Given the description of an element on the screen output the (x, y) to click on. 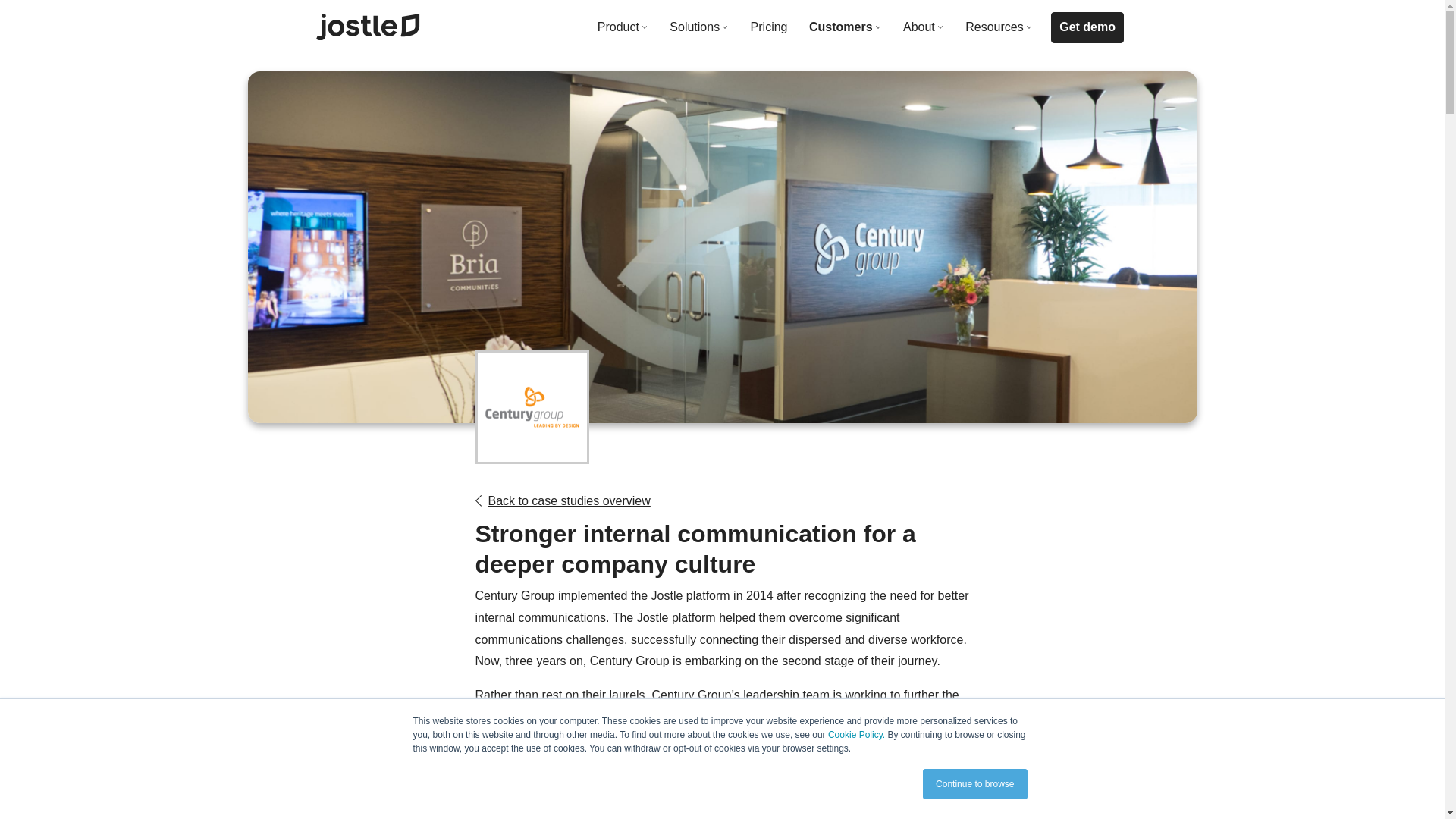
Solutions (699, 27)
Resources (998, 27)
Customers (845, 27)
About (923, 27)
Cookie Policy. (856, 734)
Get demo (1087, 27)
Continue to browse (974, 784)
Pricing (769, 27)
Product (622, 27)
